Given the description of an element on the screen output the (x, y) to click on. 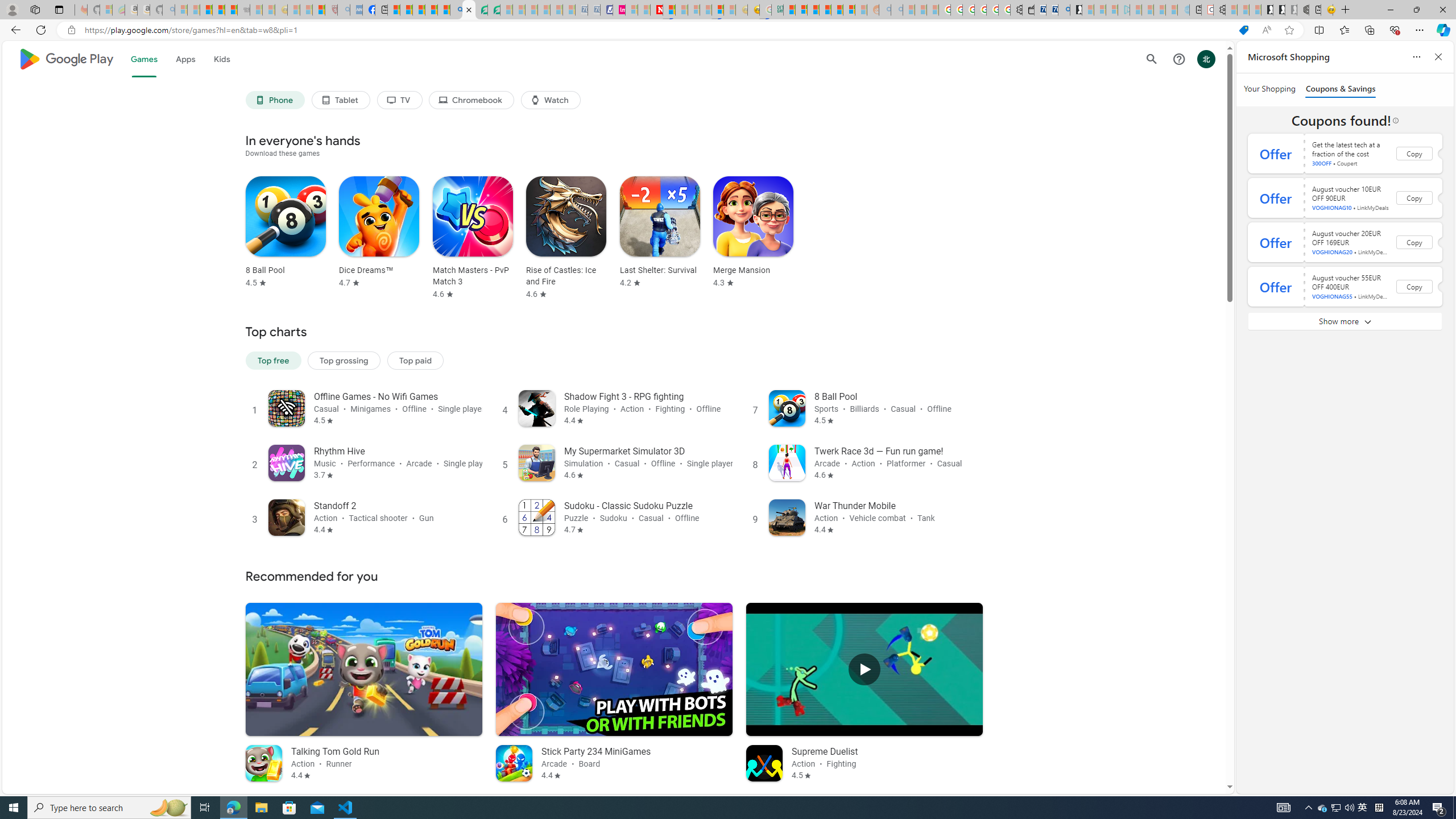
DITOGAMES AG Imprint (777, 9)
Kinda Frugal - MSN (837, 9)
google - Search (456, 9)
Recipes - MSN - Sleeping (293, 9)
Last Shelter: Survival Rated 4.2 stars out of five stars (659, 232)
8 Ball Pool4.5 (282, 238)
Pets - MSN (431, 9)
Robert H. Shmerling, MD - Harvard Health - Sleeping (331, 9)
